Given the description of an element on the screen output the (x, y) to click on. 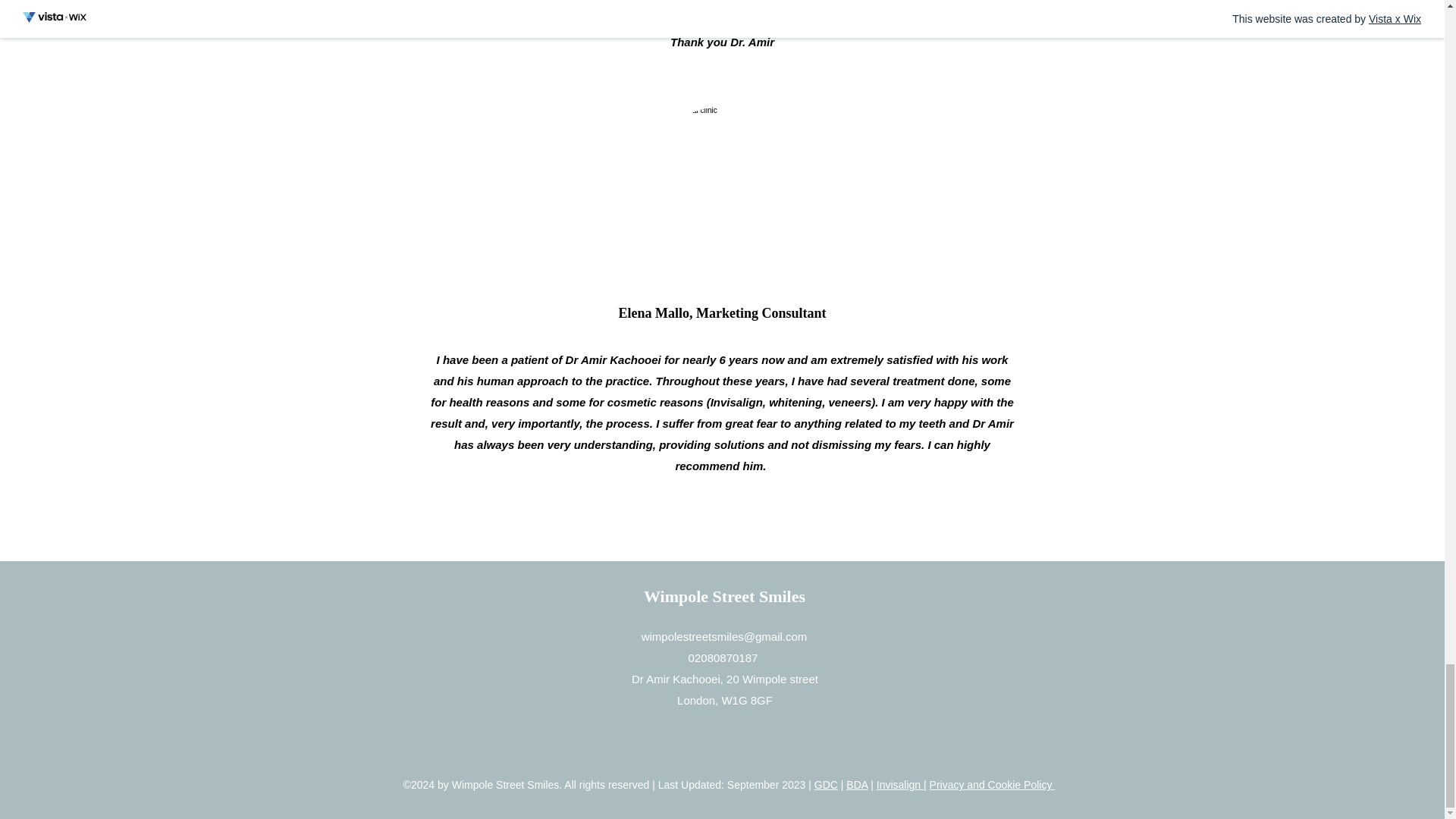
Wimpole Street Smiles (724, 596)
GDC (825, 784)
Invisalign  (899, 784)
BDA (856, 784)
Privacy and Cookie Policy  (992, 784)
